Given the description of an element on the screen output the (x, y) to click on. 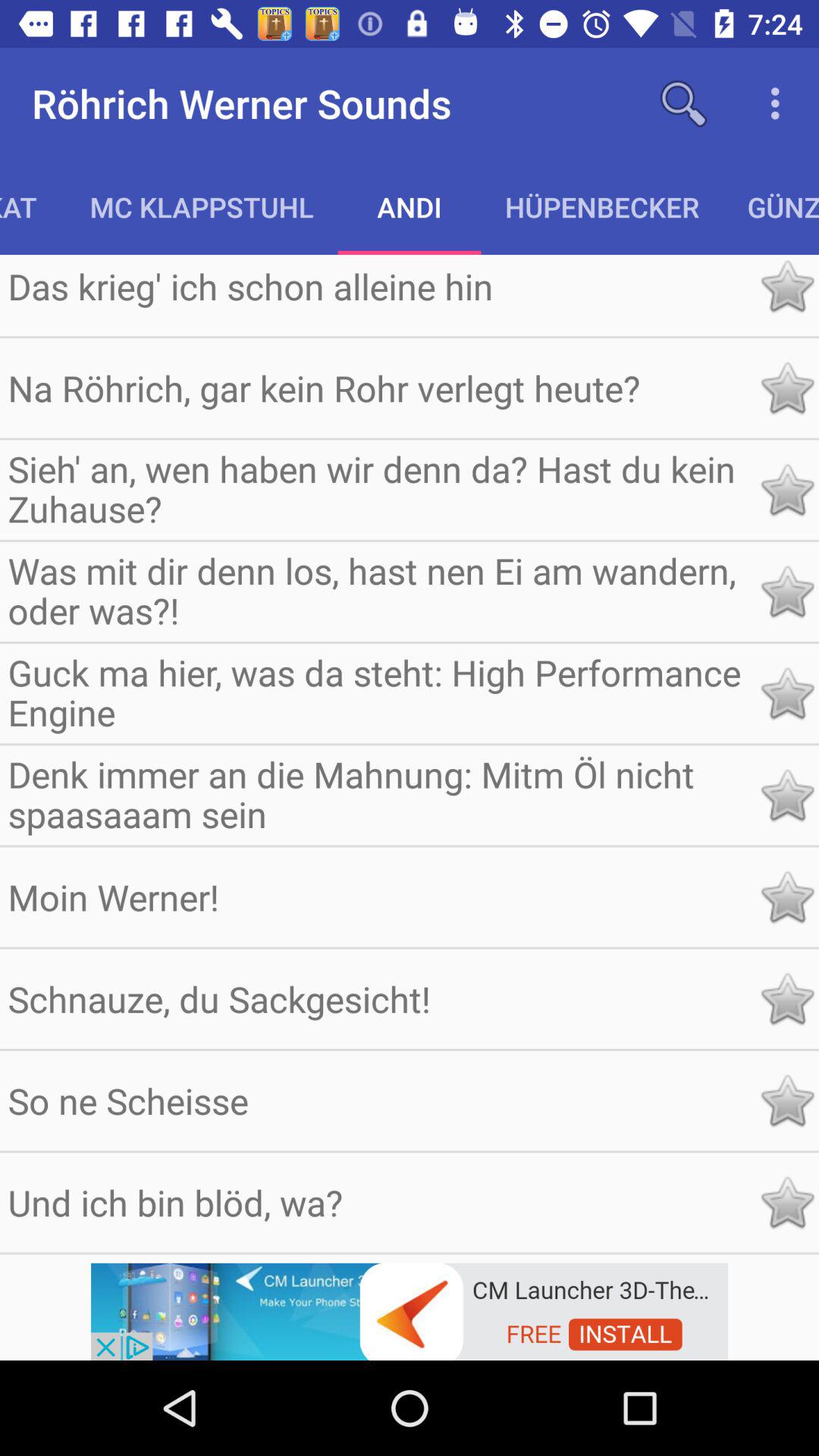
favorite item (787, 591)
